Given the description of an element on the screen output the (x, y) to click on. 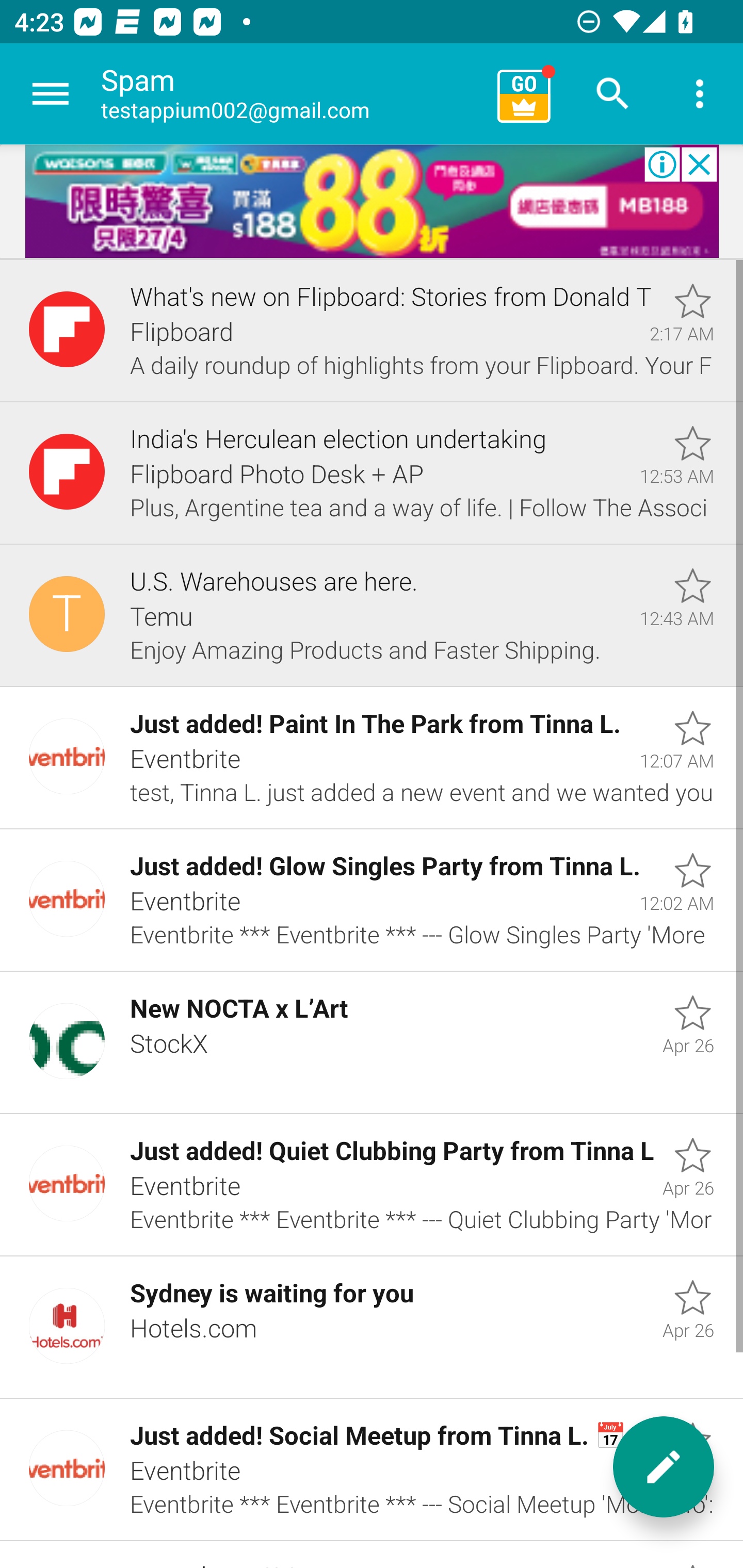
Navigate up (50, 93)
Spam testappium002@gmail.com (291, 93)
Search (612, 93)
More options (699, 93)
Advertisement (371, 202)
Unread, New NOCTA x L’Art, StockX, Apr 26 (371, 1043)
New message (663, 1466)
